Given the description of an element on the screen output the (x, y) to click on. 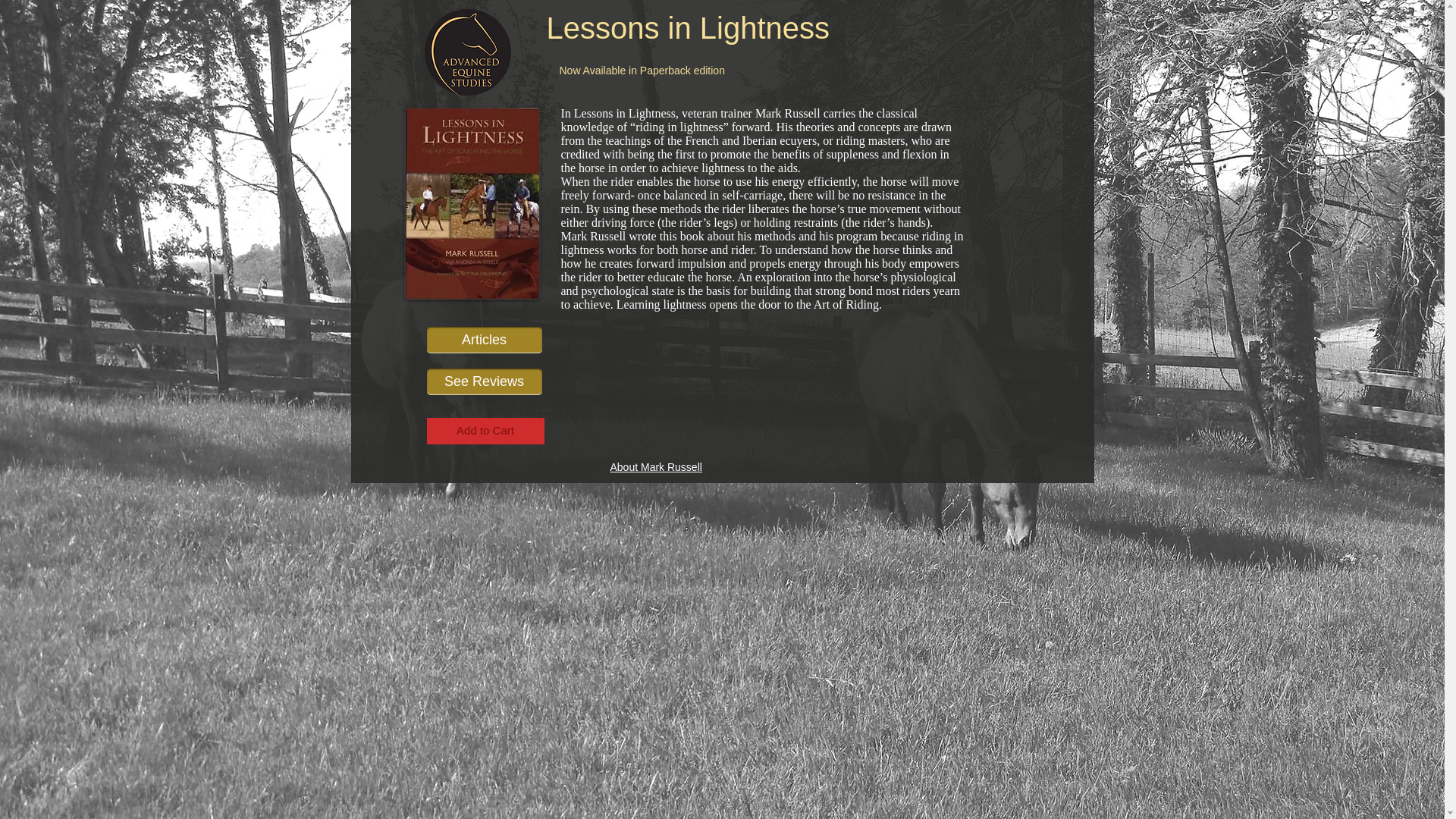
Mark Russell (788, 113)
Articles (483, 339)
Add to Cart (484, 430)
See Reviews (483, 381)
About Mark Russell (655, 467)
